Given the description of an element on the screen output the (x, y) to click on. 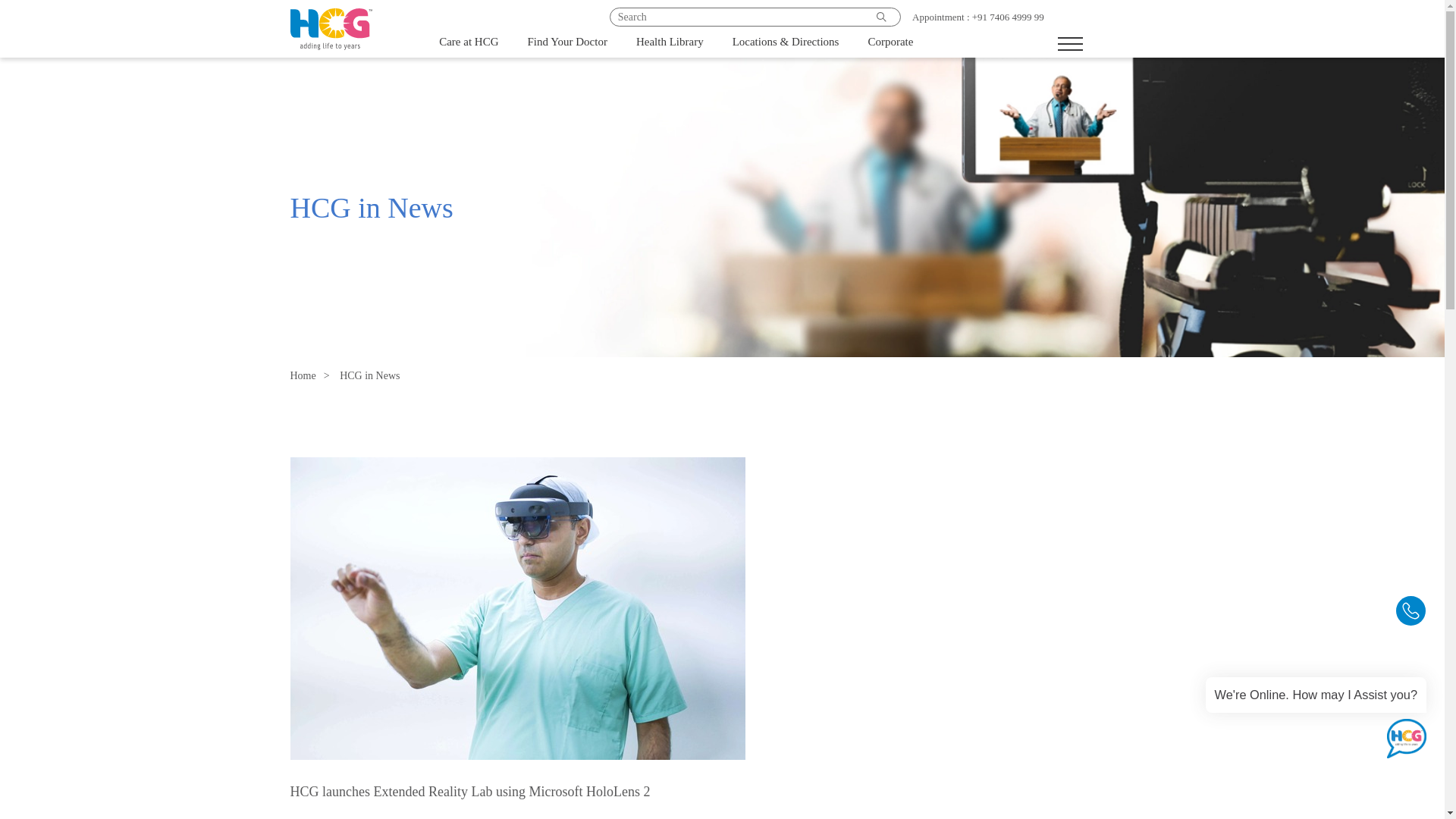
Find Your Doctor (567, 45)
Care at HCG (468, 45)
Health Library (669, 45)
Corporate (889, 45)
